Given the description of an element on the screen output the (x, y) to click on. 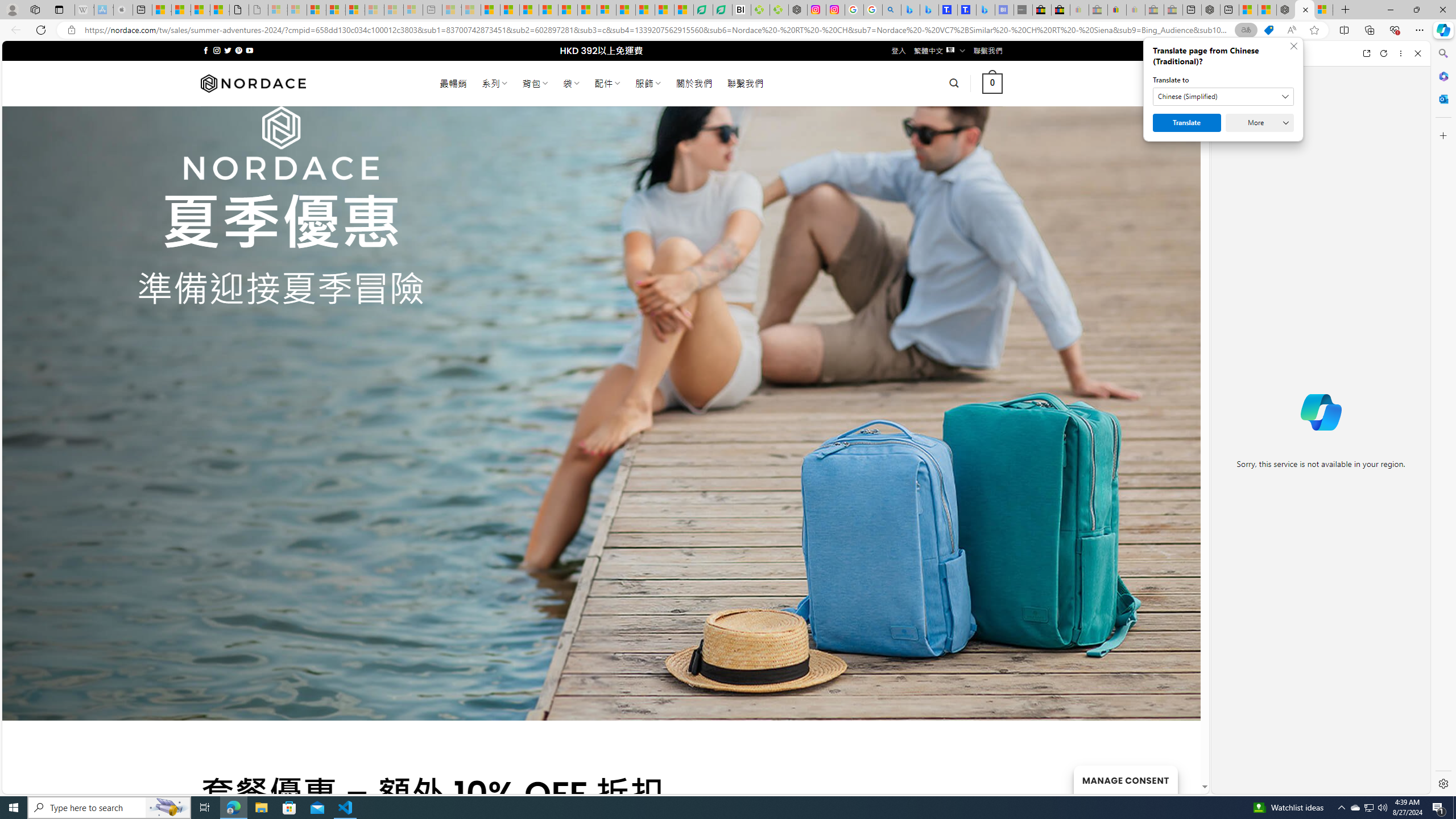
Customize (1442, 135)
Wikipedia - Sleeping (84, 9)
Outlook (1442, 98)
Marine life - MSN - Sleeping (471, 9)
Aberdeen, Hong Kong SAR severe weather | Microsoft Weather (219, 9)
Follow on Pinterest (237, 50)
Microsoft account | Account Checkup - Sleeping (413, 9)
This site has coupons! Shopping in Microsoft Edge (1268, 29)
Drinking tea every day is proven to delay biological aging (548, 9)
Press Room - eBay Inc. - Sleeping (1154, 9)
